Given the description of an element on the screen output the (x, y) to click on. 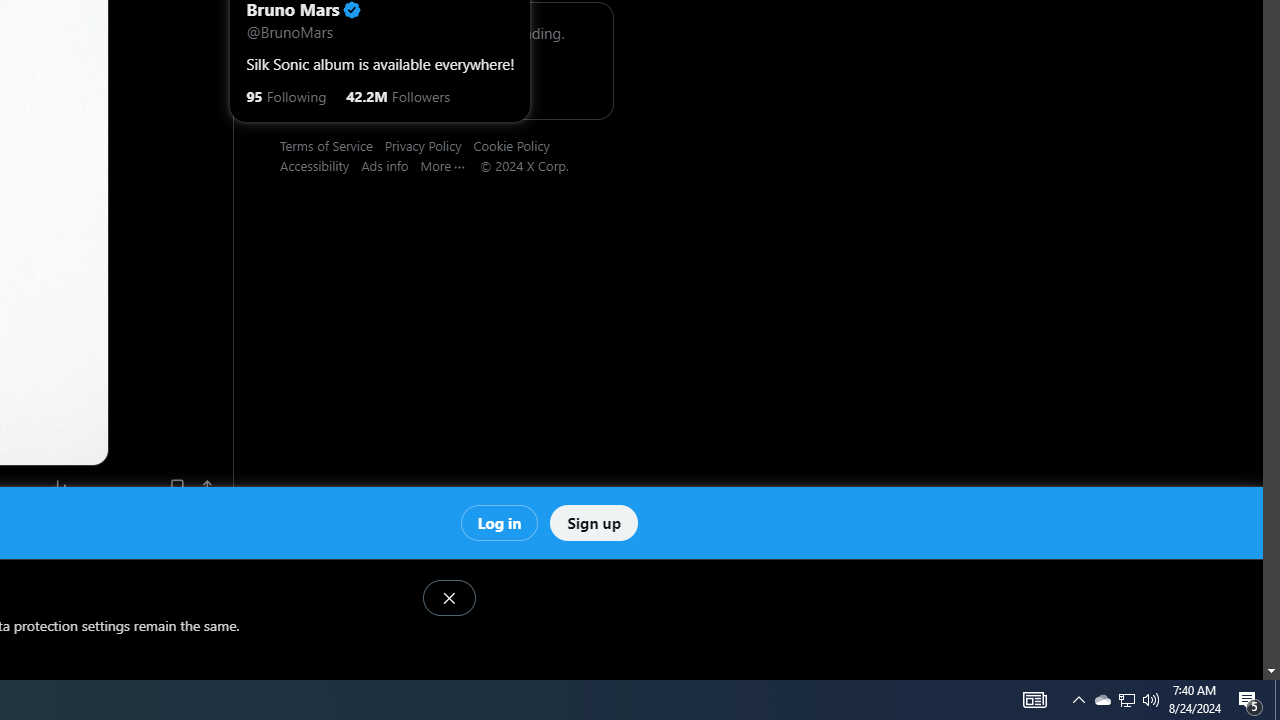
@BrunoMars (289, 30)
Log in (498, 522)
Accessibility (321, 165)
View post analytics (59, 487)
Cookie Policy (517, 145)
Sign up (593, 522)
Bookmark (176, 487)
Share post (207, 487)
Verified account (351, 10)
42.2M Followers (397, 94)
Retry (438, 80)
95 Following (285, 94)
